Given the description of an element on the screen output the (x, y) to click on. 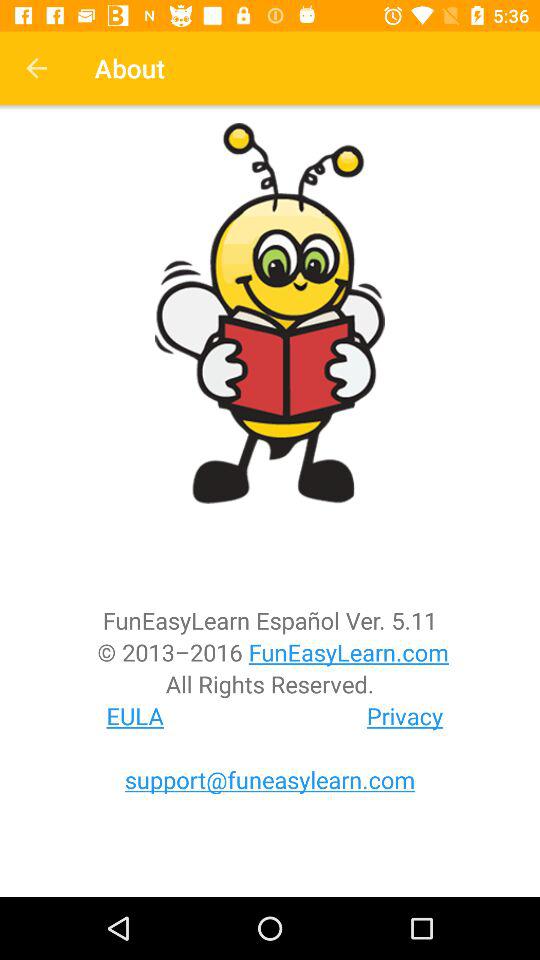
flip until the privacy (405, 715)
